Given the description of an element on the screen output the (x, y) to click on. 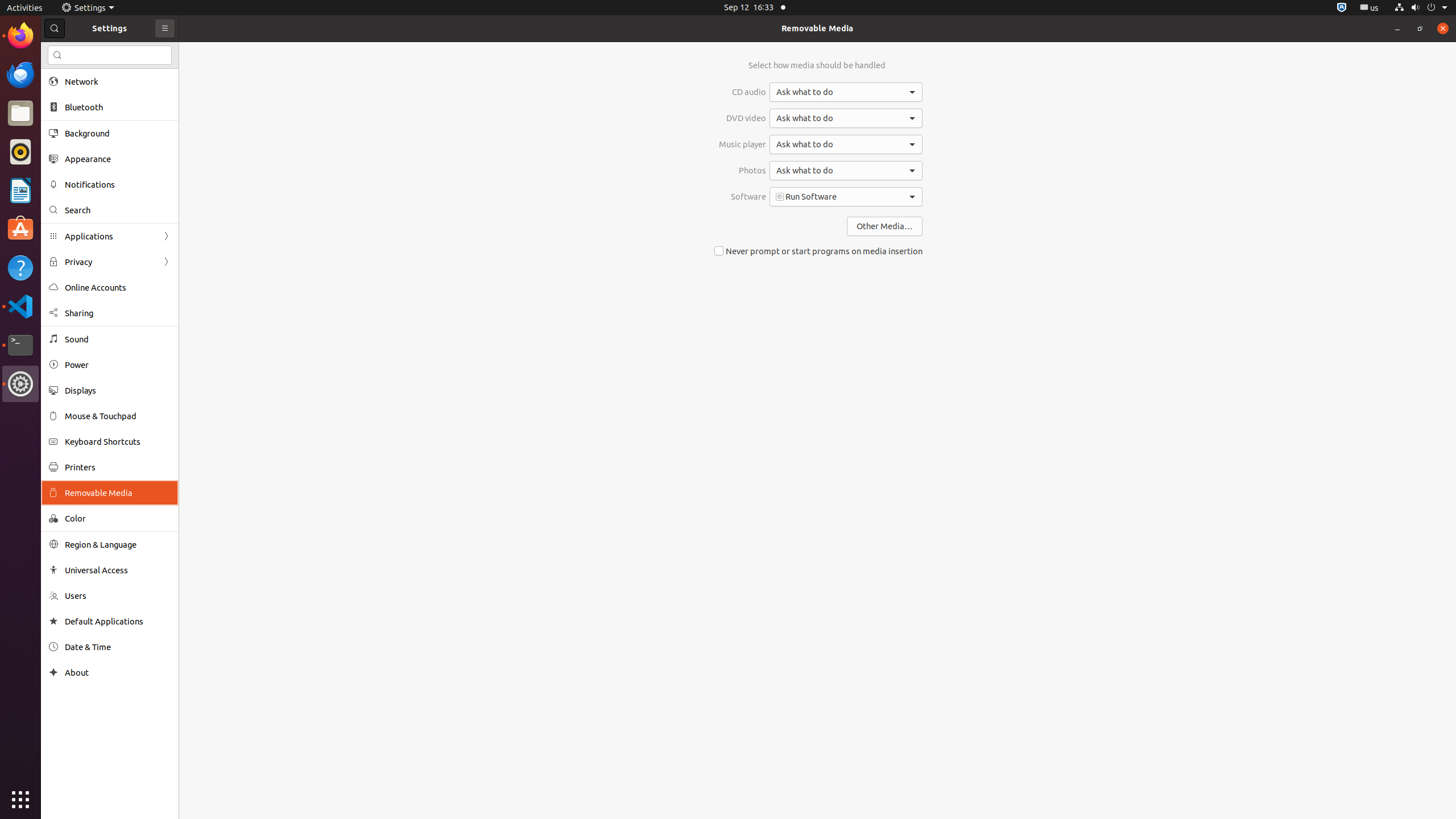
Notifications Element type: label (117, 184)
li.txt Element type: label (146, 50)
Firefox Web Browser Element type: push-button (20, 35)
About Element type: label (117, 672)
Keyboard Shortcuts Element type: label (117, 441)
